Given the description of an element on the screen output the (x, y) to click on. 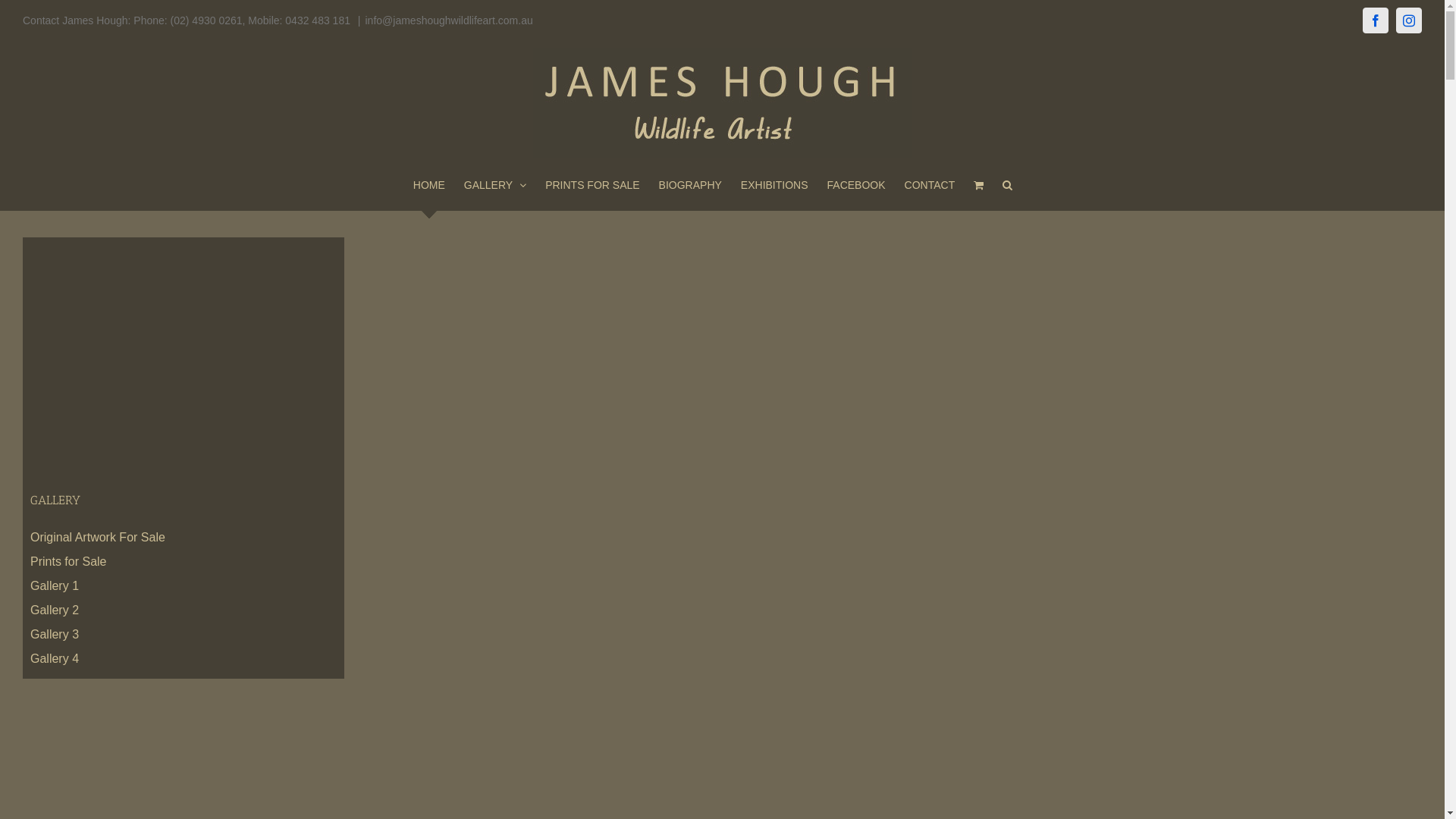
HOME Element type: text (429, 184)
Original Artwork For Sale Element type: text (97, 536)
GALLERY Element type: text (495, 184)
EXHIBITIONS Element type: text (774, 184)
Gallery 1 Element type: text (54, 585)
CONTACT Element type: text (929, 184)
info@jameshoughwildlifeart.com.au Element type: text (449, 20)
Gallery 3 Element type: text (54, 633)
Gallery 2 Element type: text (54, 609)
PRINTS FOR SALE Element type: text (592, 184)
Search Element type: hover (1007, 184)
FACEBOOK Element type: text (856, 184)
Prints for Sale Element type: text (68, 561)
Instagram Element type: text (1408, 20)
Facebook Element type: text (1375, 20)
Gallery 4 Element type: text (54, 658)
BIOGRAPHY Element type: text (689, 184)
